Given the description of an element on the screen output the (x, y) to click on. 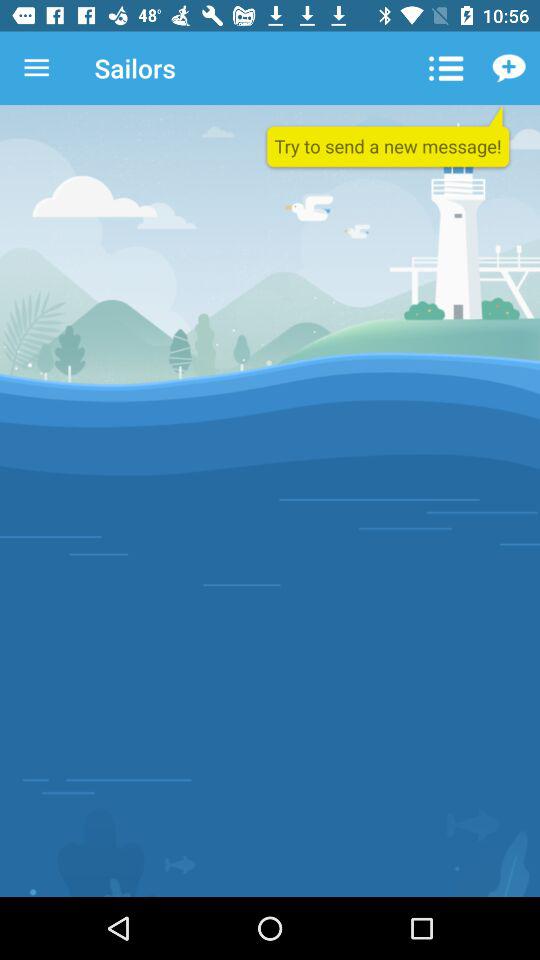
jump until the try to send item (388, 138)
